Given the description of an element on the screen output the (x, y) to click on. 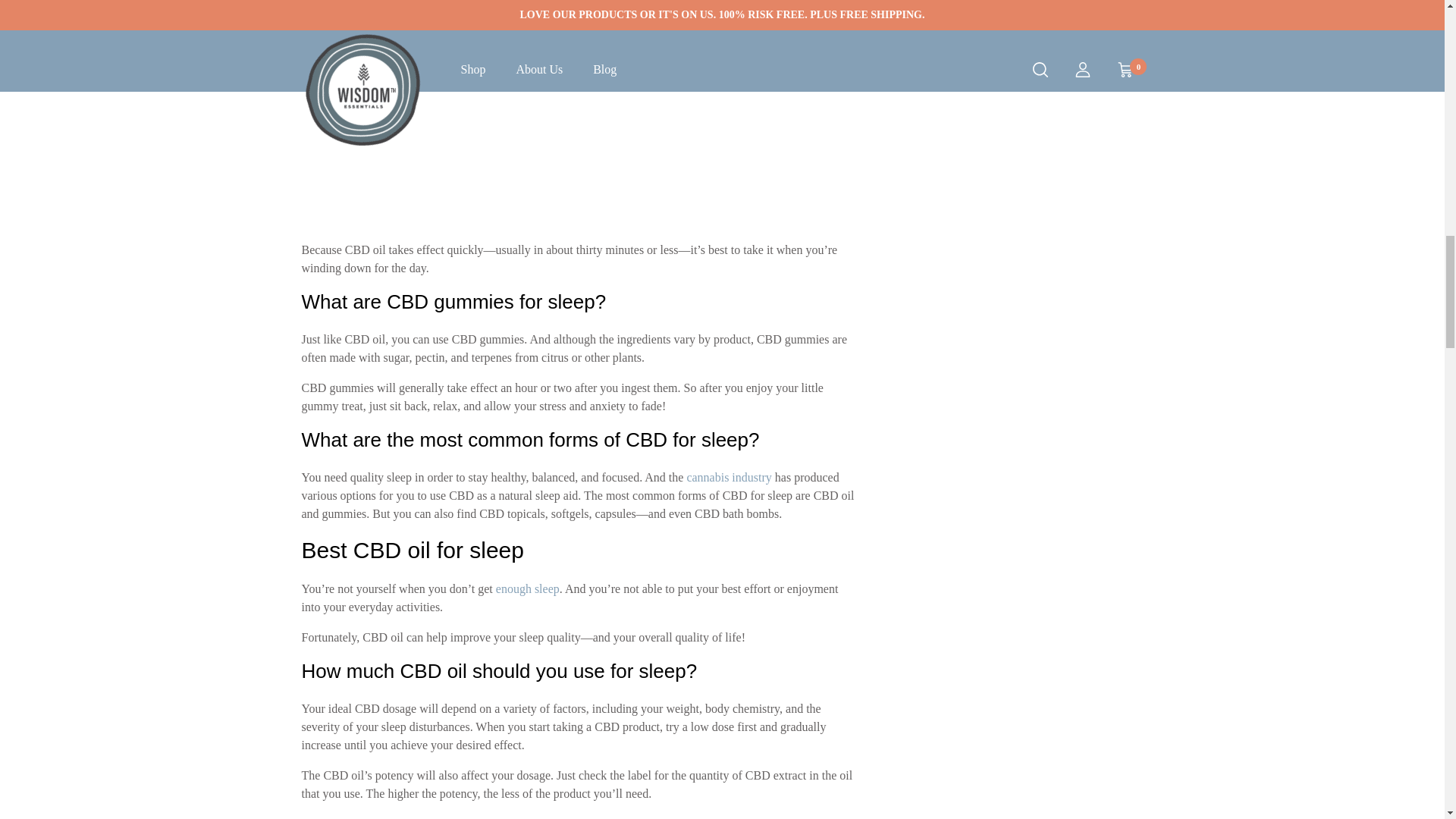
cannabis industry (728, 477)
enough sleep (527, 588)
